Given the description of an element on the screen output the (x, y) to click on. 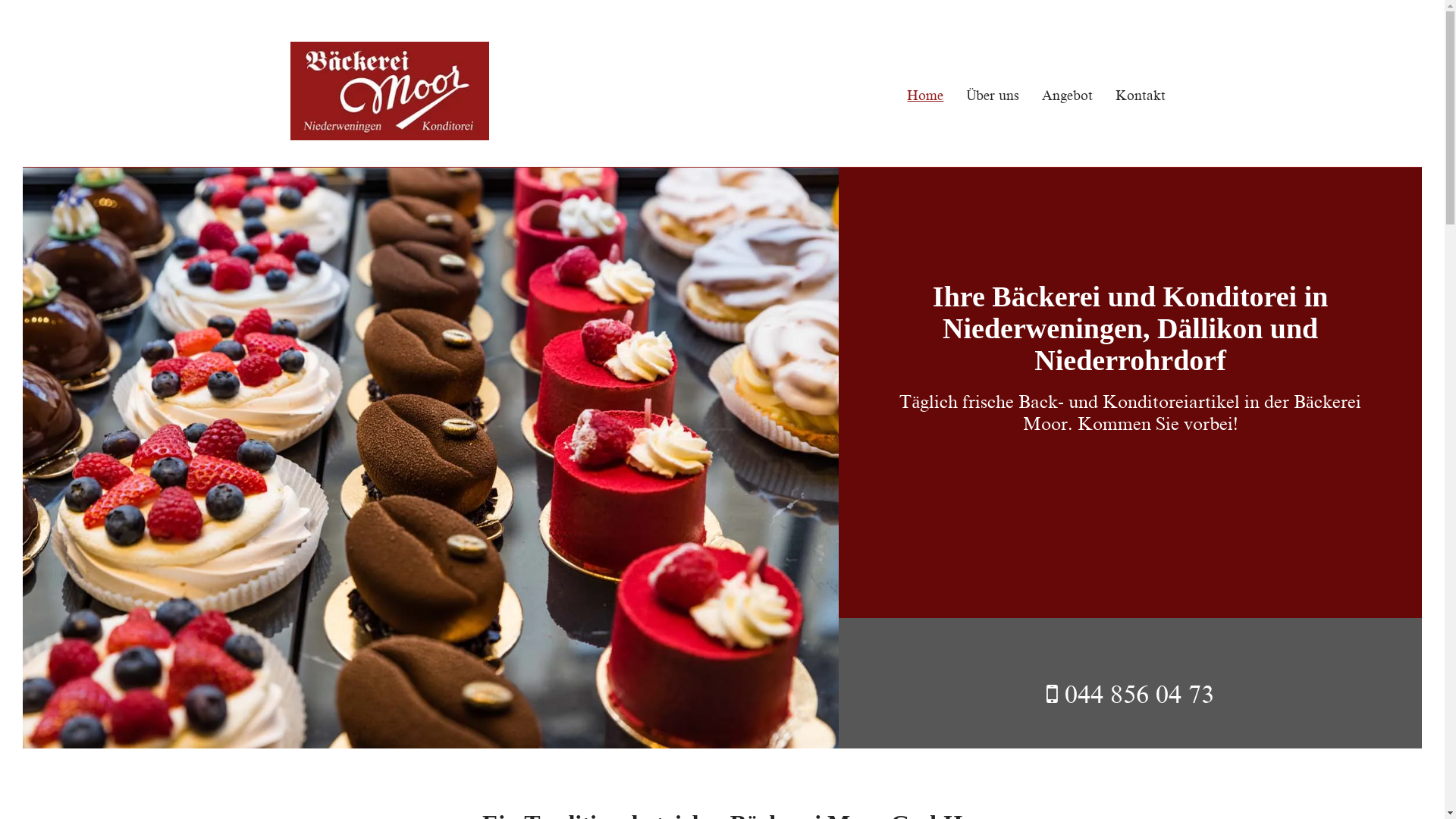
Home Element type: text (913, 95)
Kontakt Element type: text (1128, 95)
044 856 04 73 Element type: text (1139, 694)
Angebot Element type: text (1055, 95)
